Given the description of an element on the screen output the (x, y) to click on. 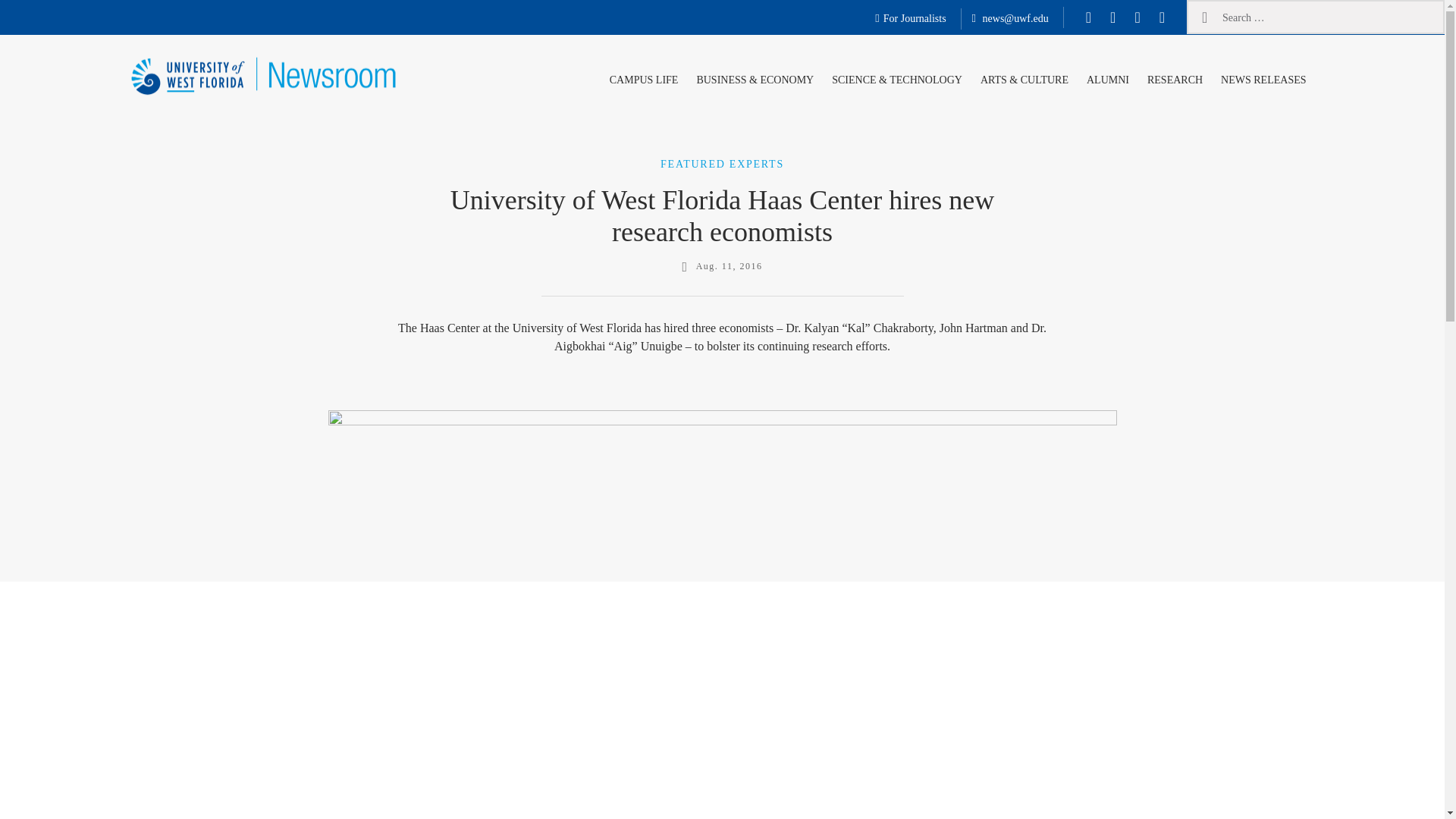
RESEARCH (1174, 77)
FEATURED EXPERTS (722, 163)
Contact us (1010, 19)
ALUMNI (1107, 77)
Connect with us on Linkedin (1161, 17)
Find us on Facebook (1088, 17)
CAMPUS LIFE (643, 77)
University of West Florida Newsroom (223, 124)
For Journalists (909, 19)
Follow us on X (1112, 17)
